Given the description of an element on the screen output the (x, y) to click on. 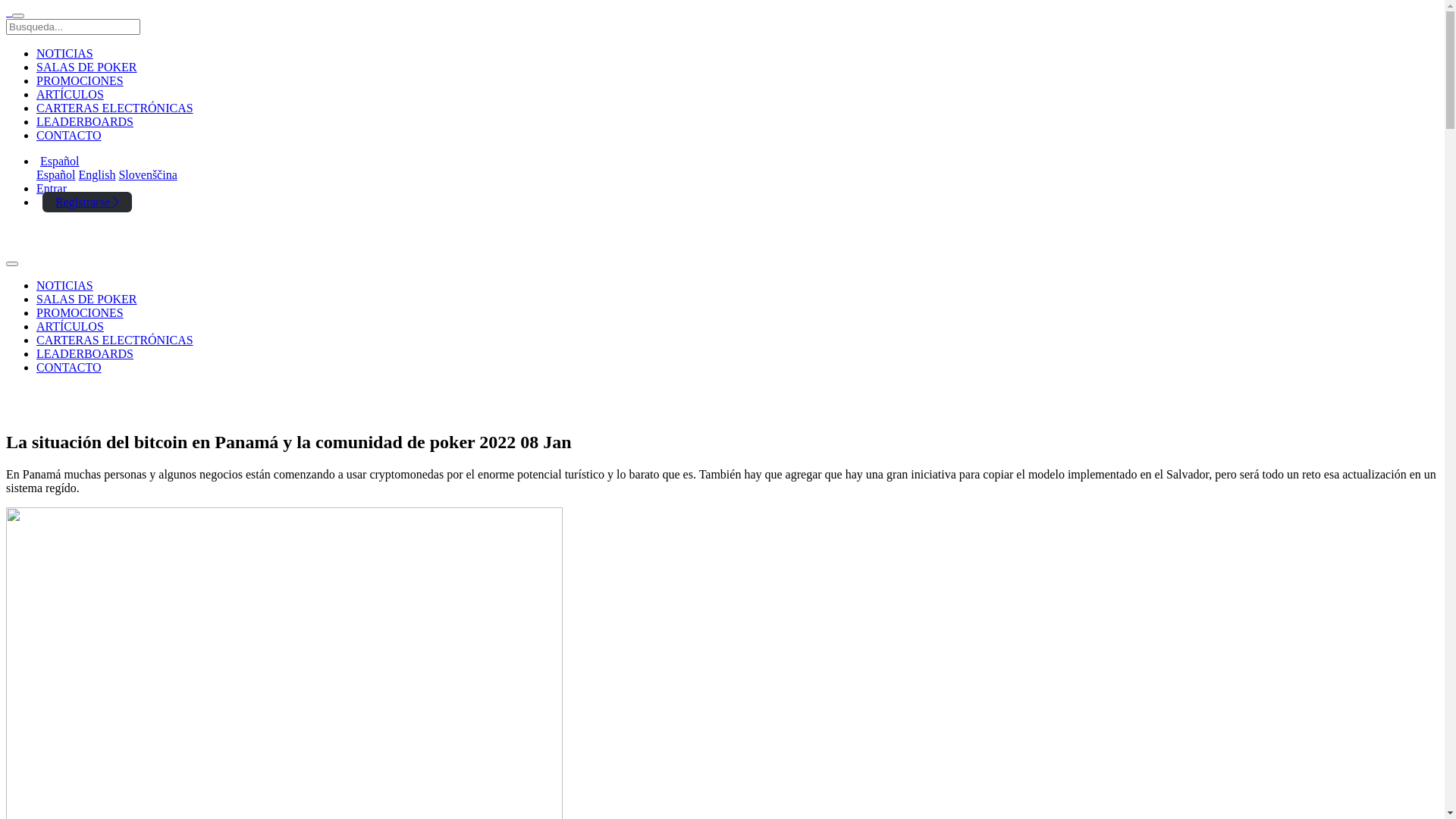
LEADERBOARDS Element type: text (84, 353)
CONTACTO Element type: text (68, 134)
PROMOCIONES Element type: text (79, 80)
PROMOCIONES Element type: text (79, 312)
CONTACTO Element type: text (68, 366)
SALAS DE POKER Element type: text (86, 298)
Registrarse Element type: text (86, 201)
NOTICIAS Element type: text (64, 53)
SALAS DE POKER Element type: text (86, 66)
English Element type: text (97, 174)
NOTICIAS Element type: text (64, 285)
Entrar Element type: text (51, 188)
LEADERBOARDS Element type: text (84, 121)
